Given the description of an element on the screen output the (x, y) to click on. 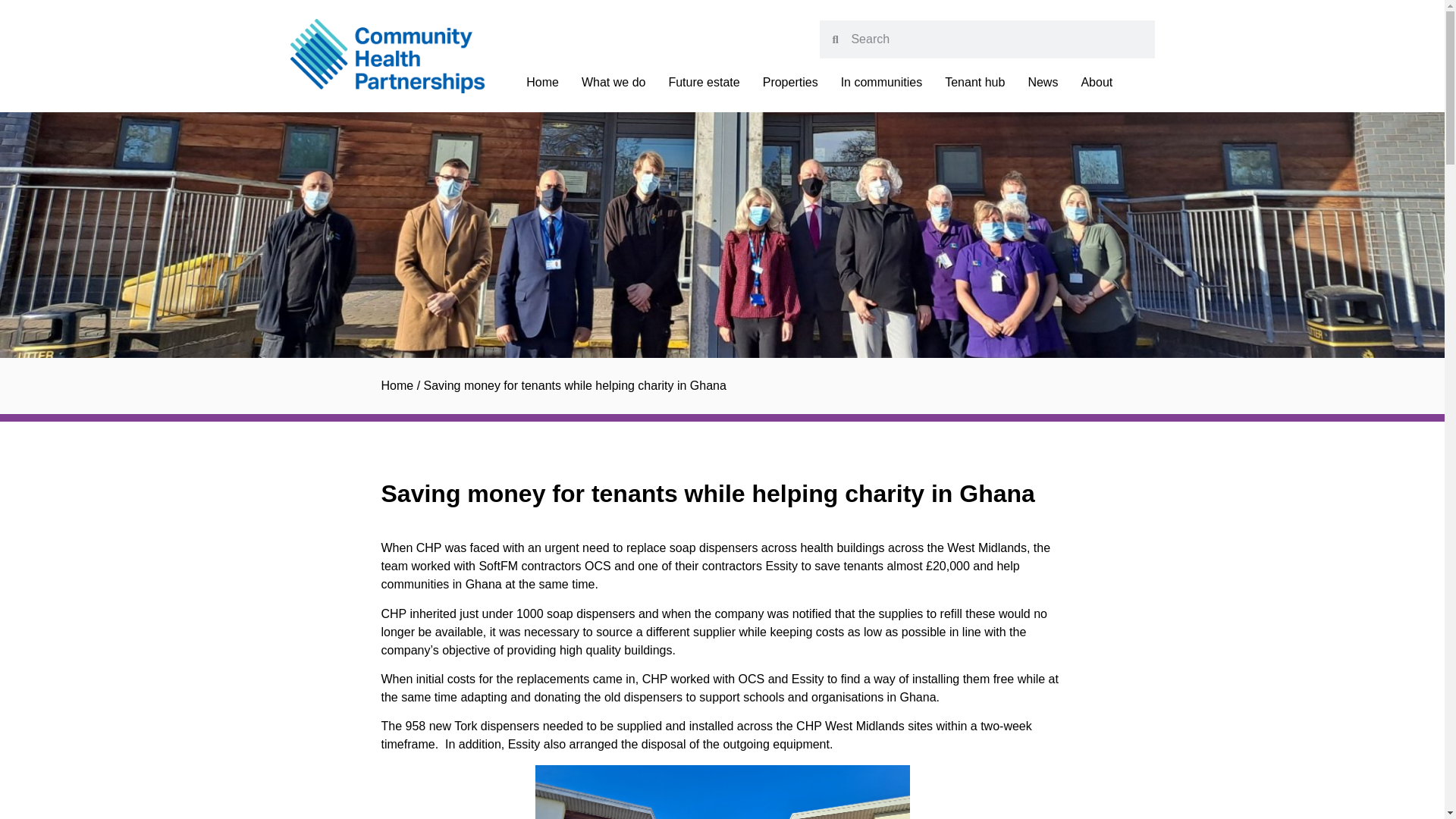
Home (542, 82)
Properties (790, 82)
Tenant hub (974, 82)
Future estate (703, 82)
What we do (612, 82)
In communities (882, 82)
